Given the description of an element on the screen output the (x, y) to click on. 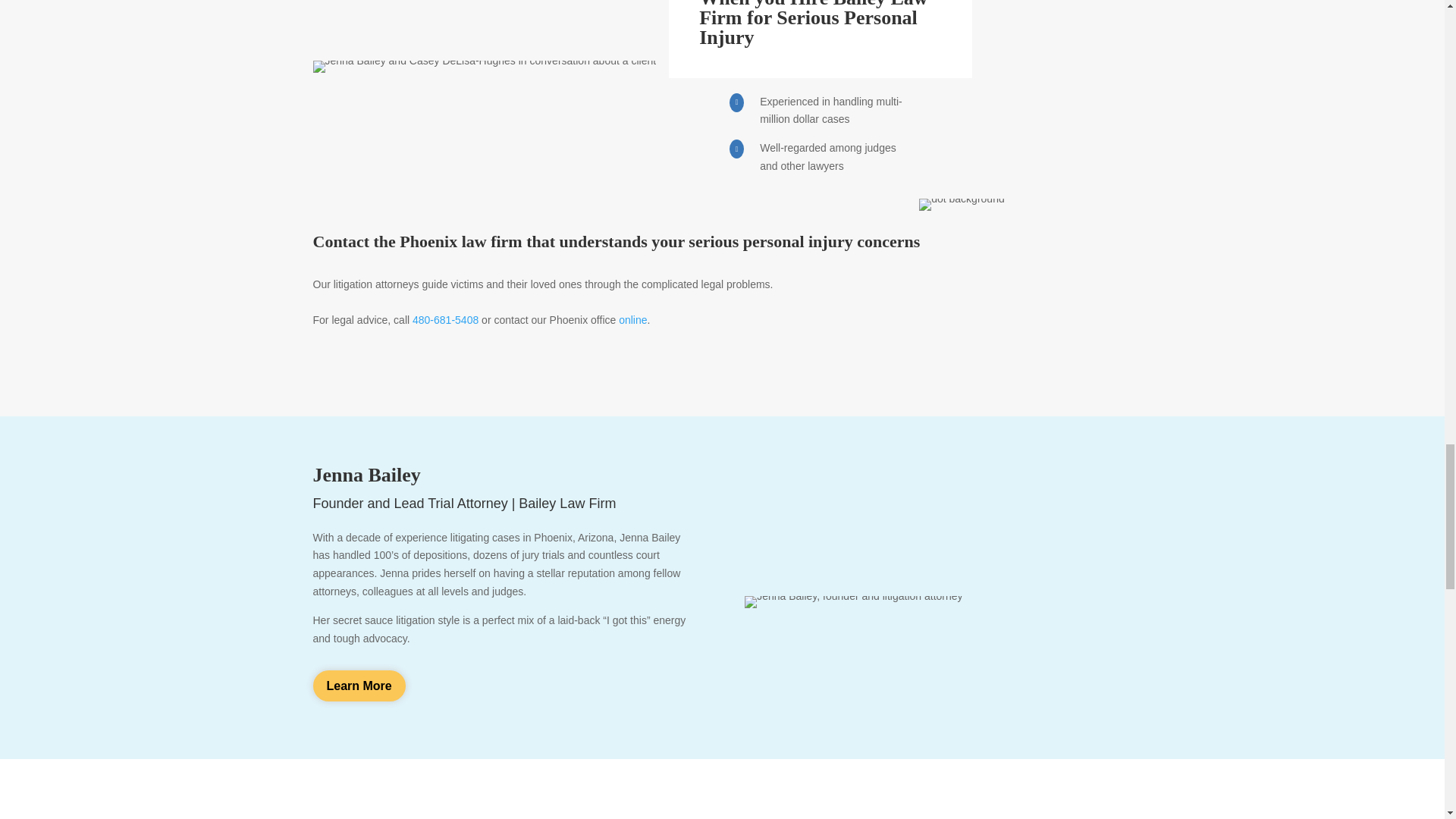
Jenna Bailey, founder and litigation attorney (853, 602)
Serious Personal Injury Attorney Phoenix 1 (961, 204)
